Given the description of an element on the screen output the (x, y) to click on. 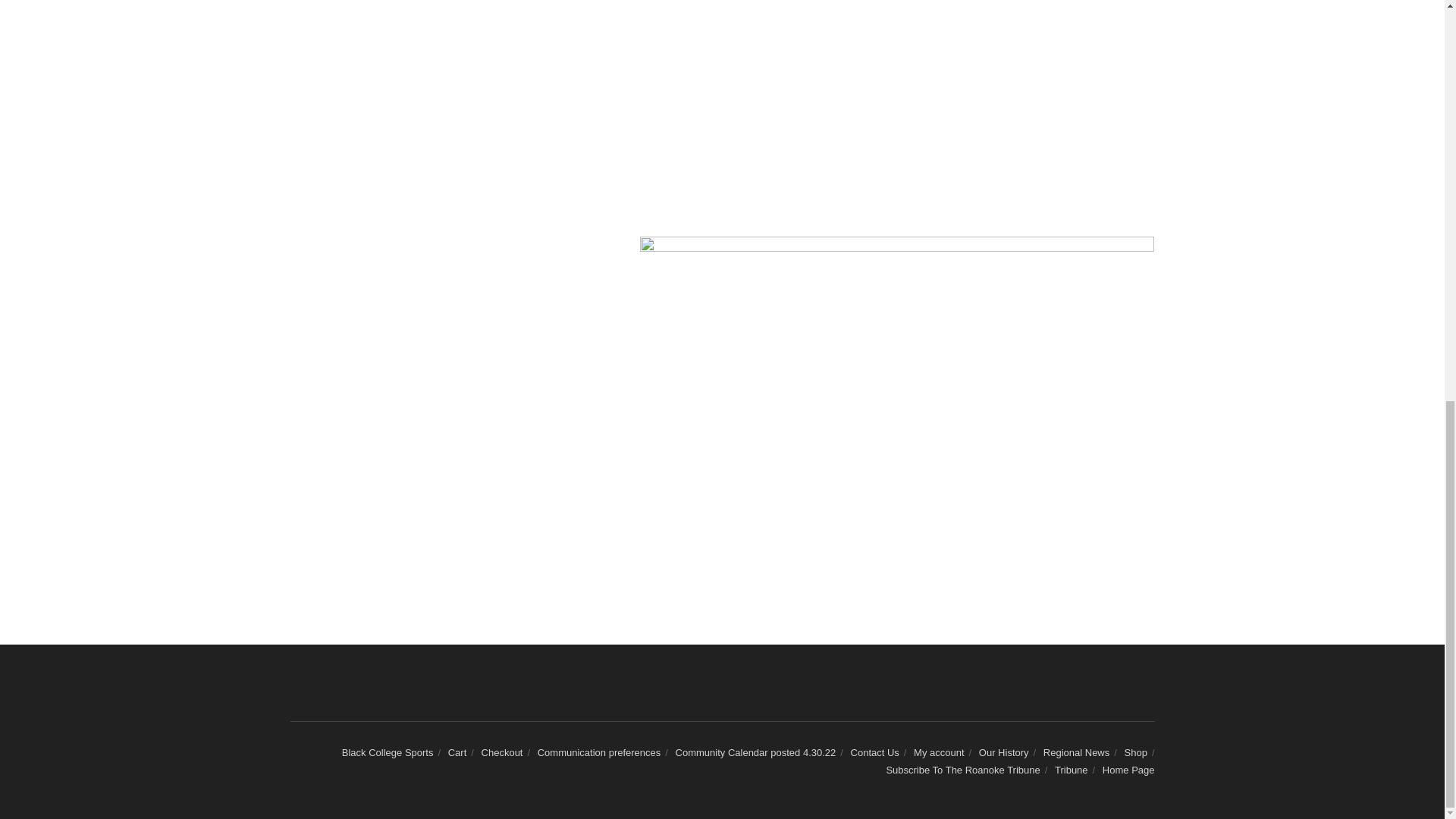
Cart (457, 752)
Checkout (501, 752)
Black College Sports (387, 752)
